Given the description of an element on the screen output the (x, y) to click on. 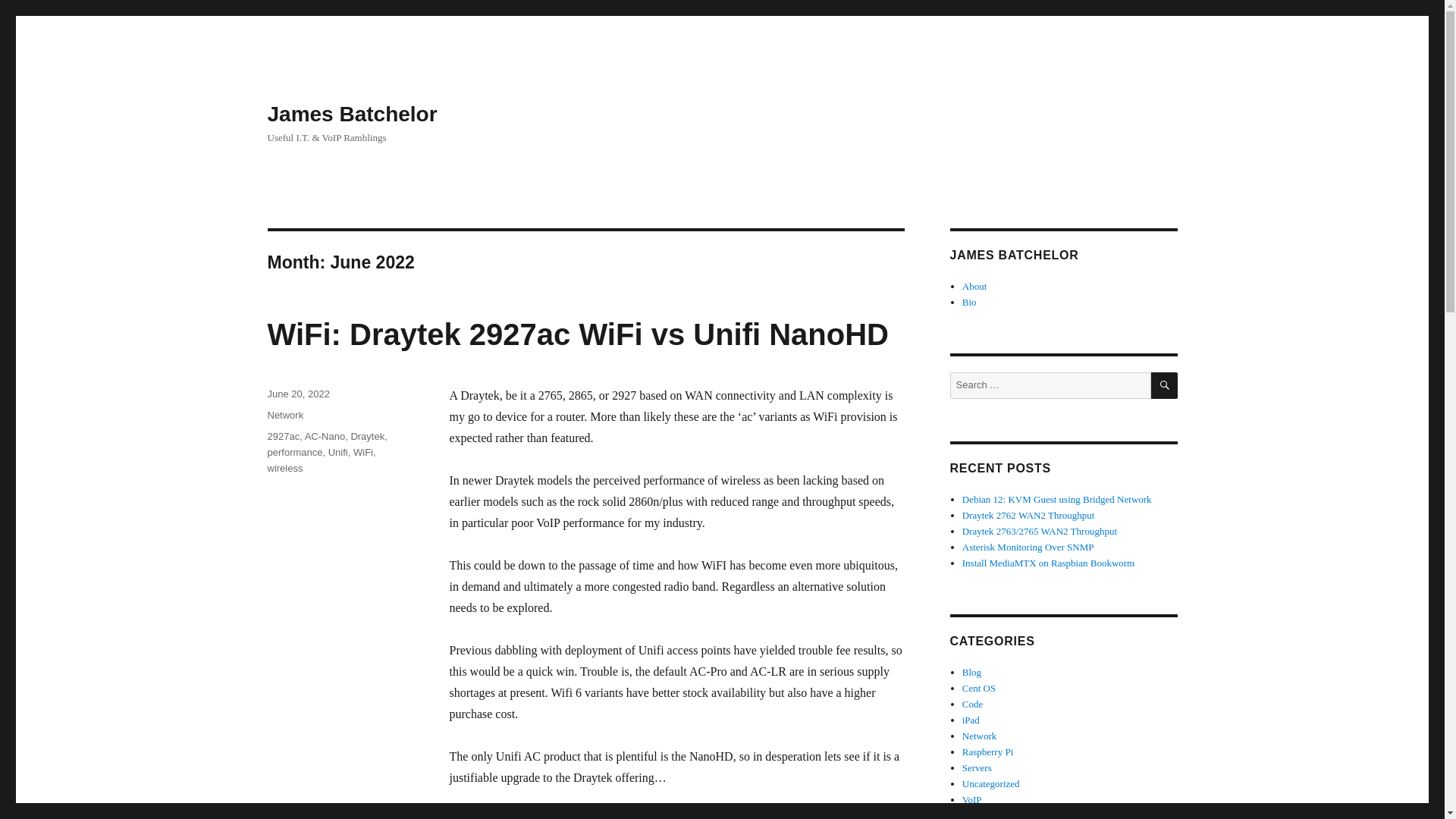
performance (293, 451)
Bio (969, 301)
2927ac (282, 436)
AC-Nano (324, 436)
SEARCH (1164, 385)
Network (284, 414)
Unifi (338, 451)
Blog (971, 672)
Debian 12: KVM Guest using Bridged Network (1056, 499)
Install MediaMTX on Raspbian Bookworm (1048, 562)
